Given the description of an element on the screen output the (x, y) to click on. 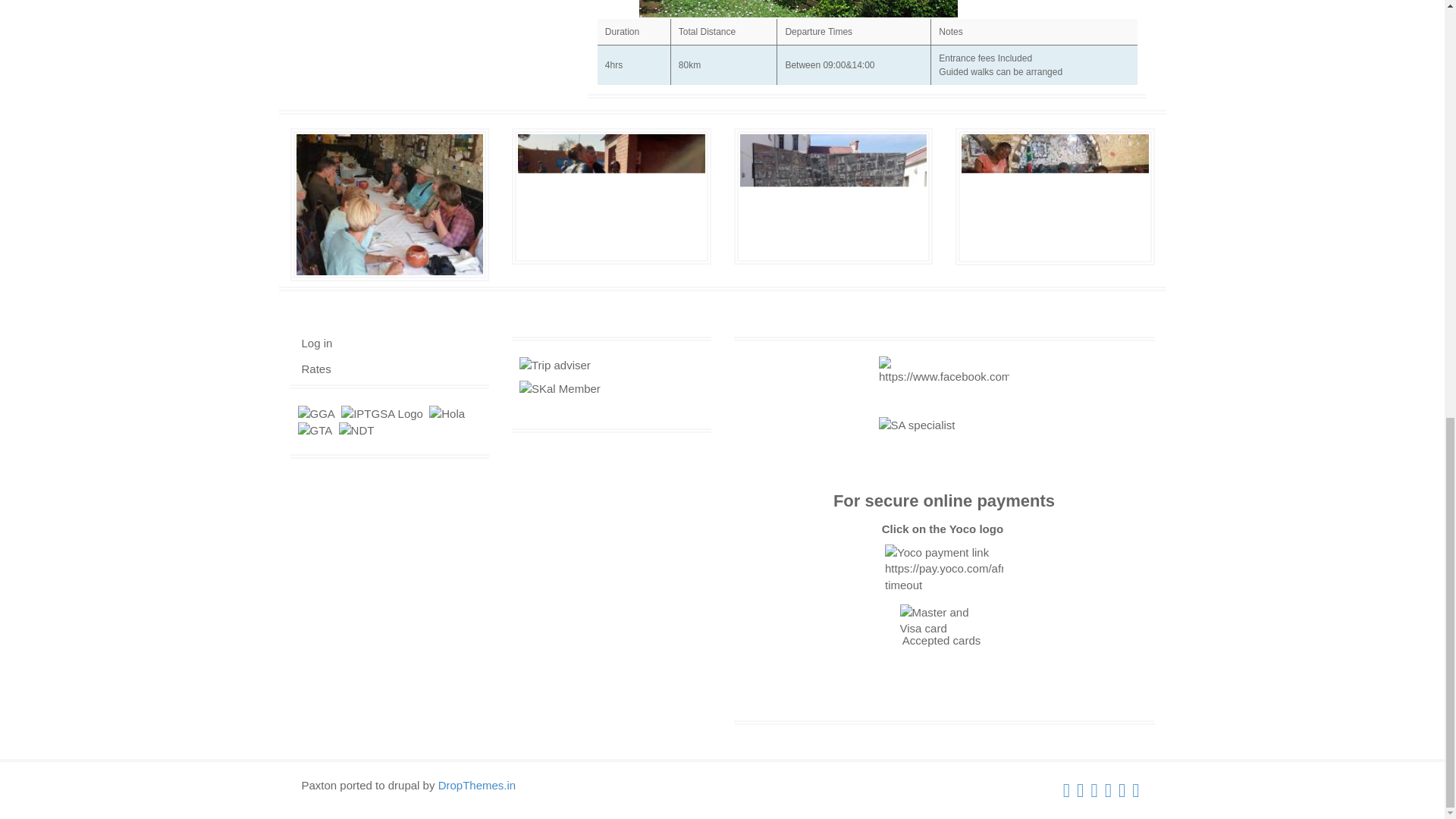
DropThemes.in (477, 784)
Log in (317, 342)
Rates (316, 368)
